Given the description of an element on the screen output the (x, y) to click on. 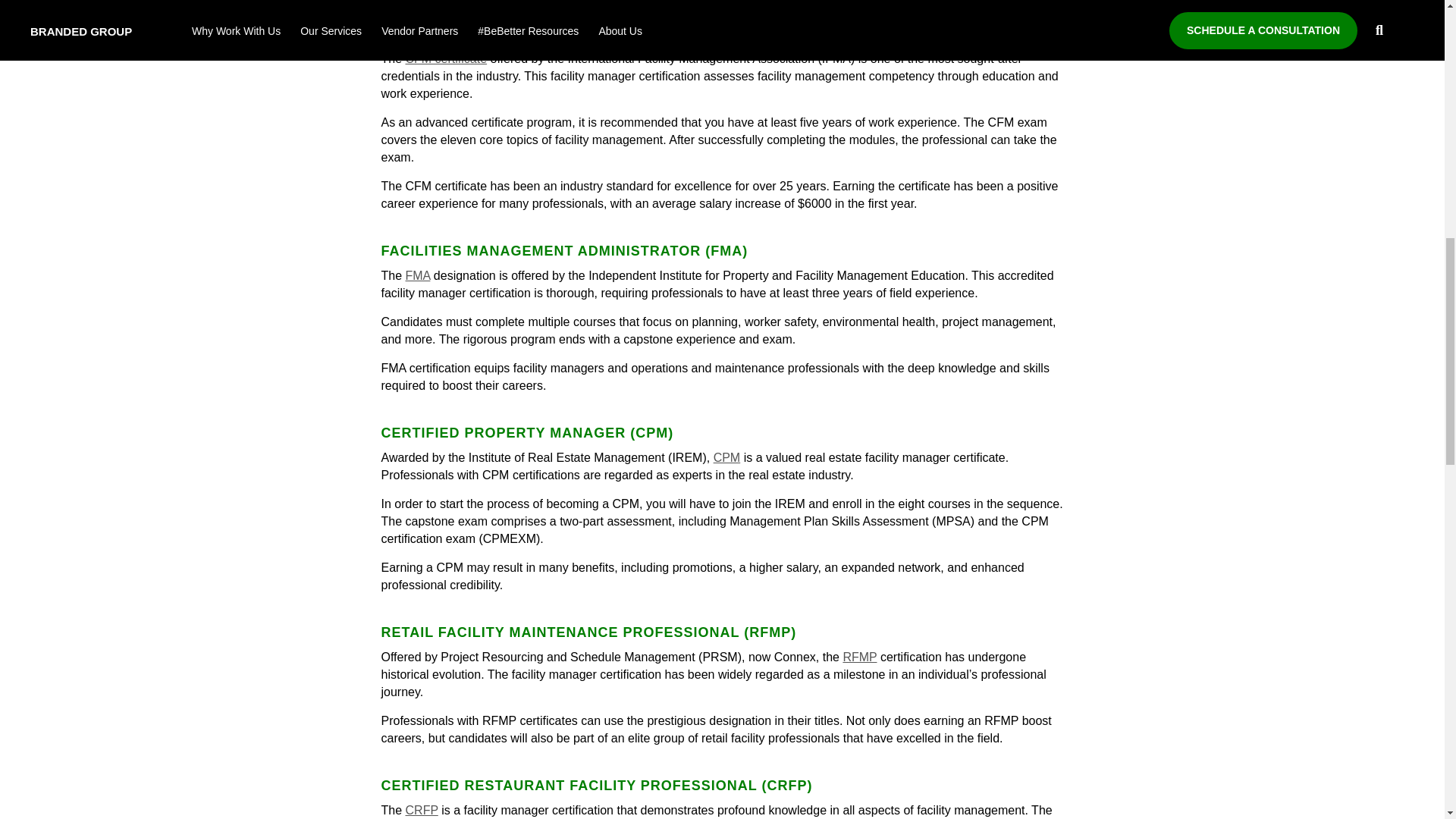
RFMP (859, 656)
CPM (727, 457)
CFM certificate (446, 58)
FMA (418, 275)
CRFP (422, 809)
